Given the description of an element on the screen output the (x, y) to click on. 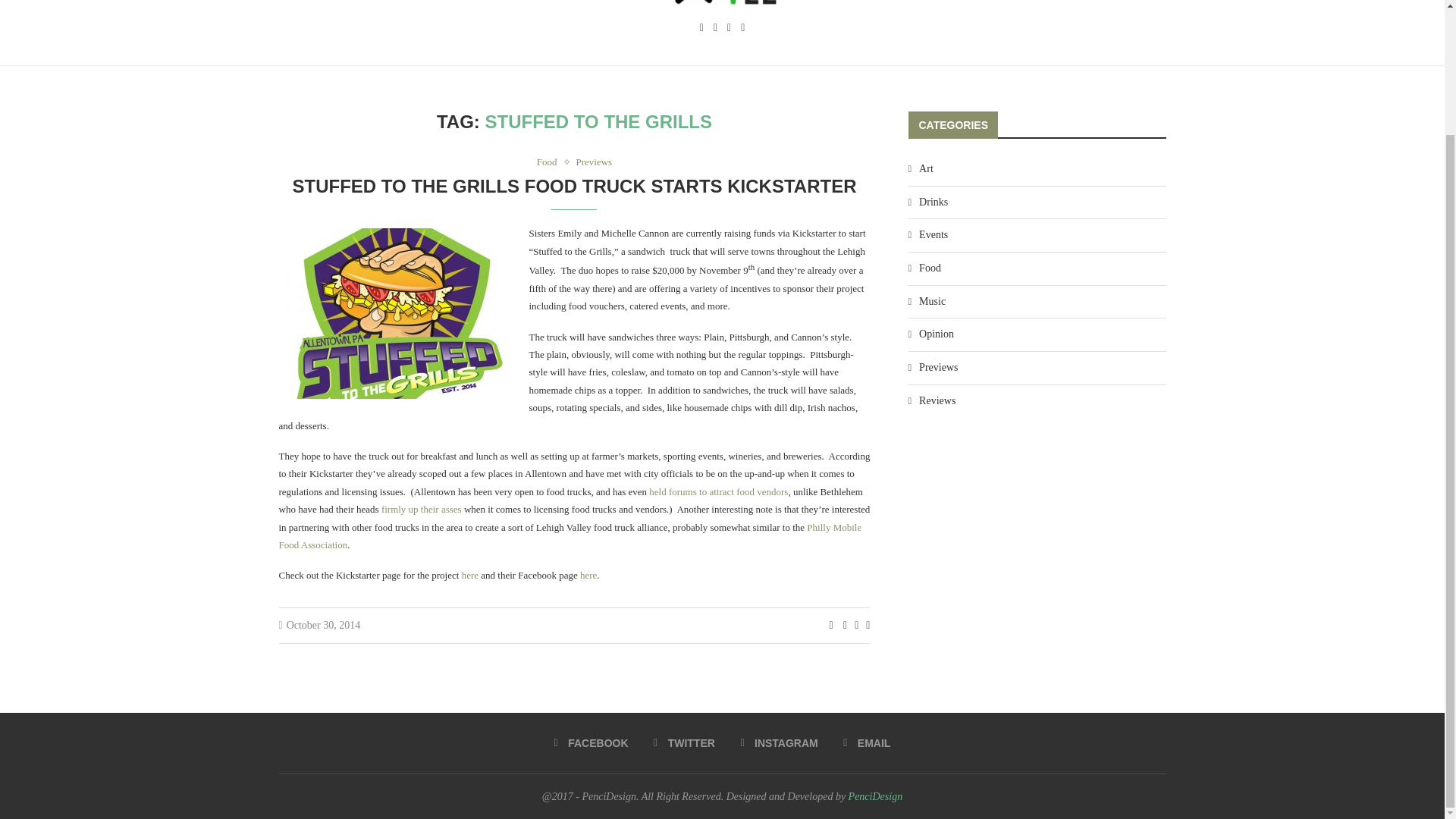
Food (550, 162)
INSTAGRAM (777, 743)
Previews (1036, 367)
Previews (594, 162)
STUFFED TO THE GRILLS FOOD TRUCK STARTS KICKSTARTER (574, 186)
Philly Mobile Food Association (570, 535)
TWITTER (683, 743)
EMAIL (866, 743)
Drinks (1036, 201)
Reviews (1036, 400)
